Given the description of an element on the screen output the (x, y) to click on. 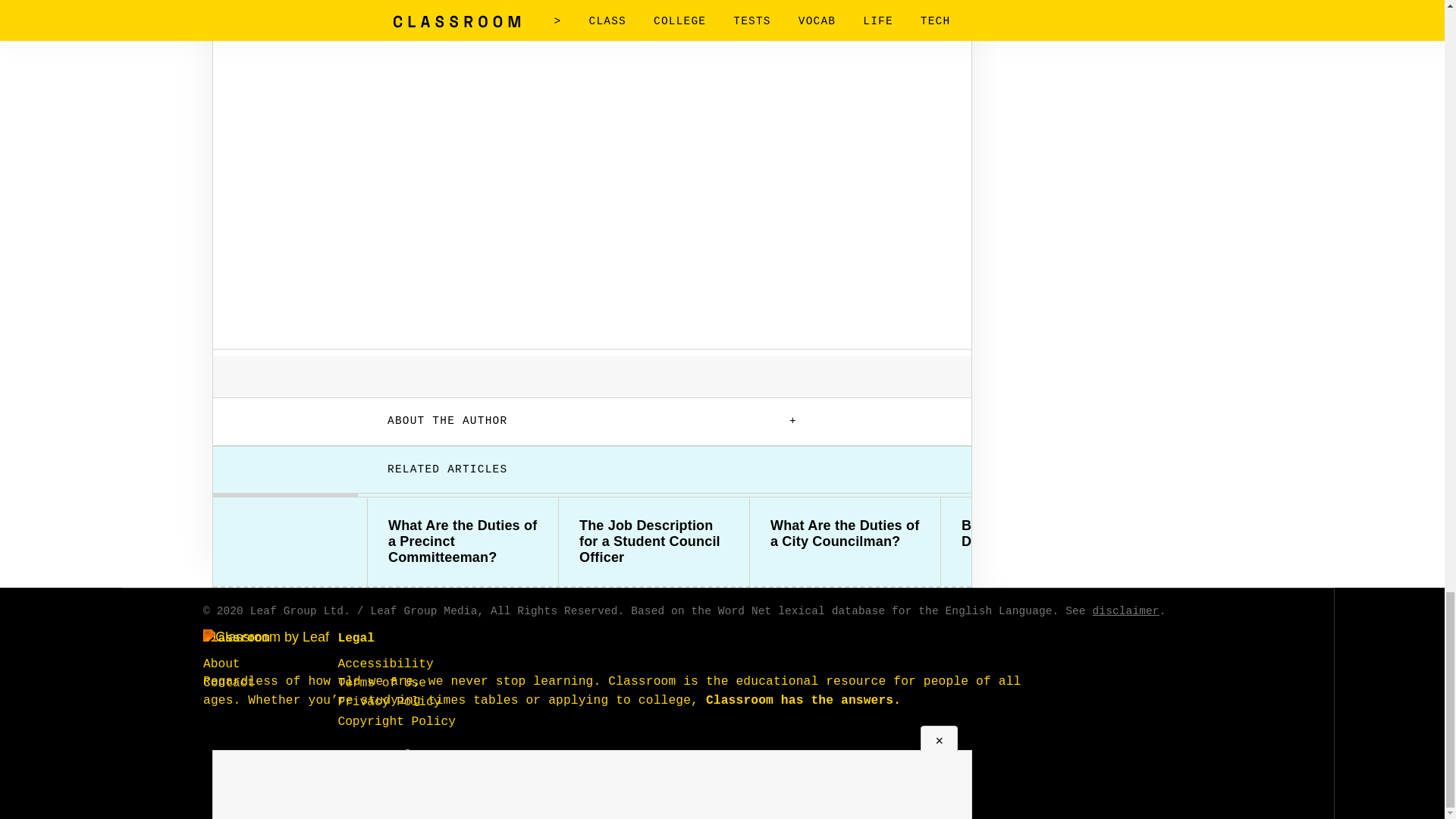
The Job Description for a Student Council Officer (654, 541)
Baptist Church Officer Duties (1035, 533)
About (221, 663)
Accessibility (384, 663)
Privacy Policy (389, 702)
Ideas for a Fifth-Grade Class President (1227, 533)
What Are the Duties of a Precinct Committeeman? (462, 541)
Manage Preferences (395, 754)
Copyright Policy (395, 721)
What Are the Duties of a City Councilman? (844, 533)
